Given the description of an element on the screen output the (x, y) to click on. 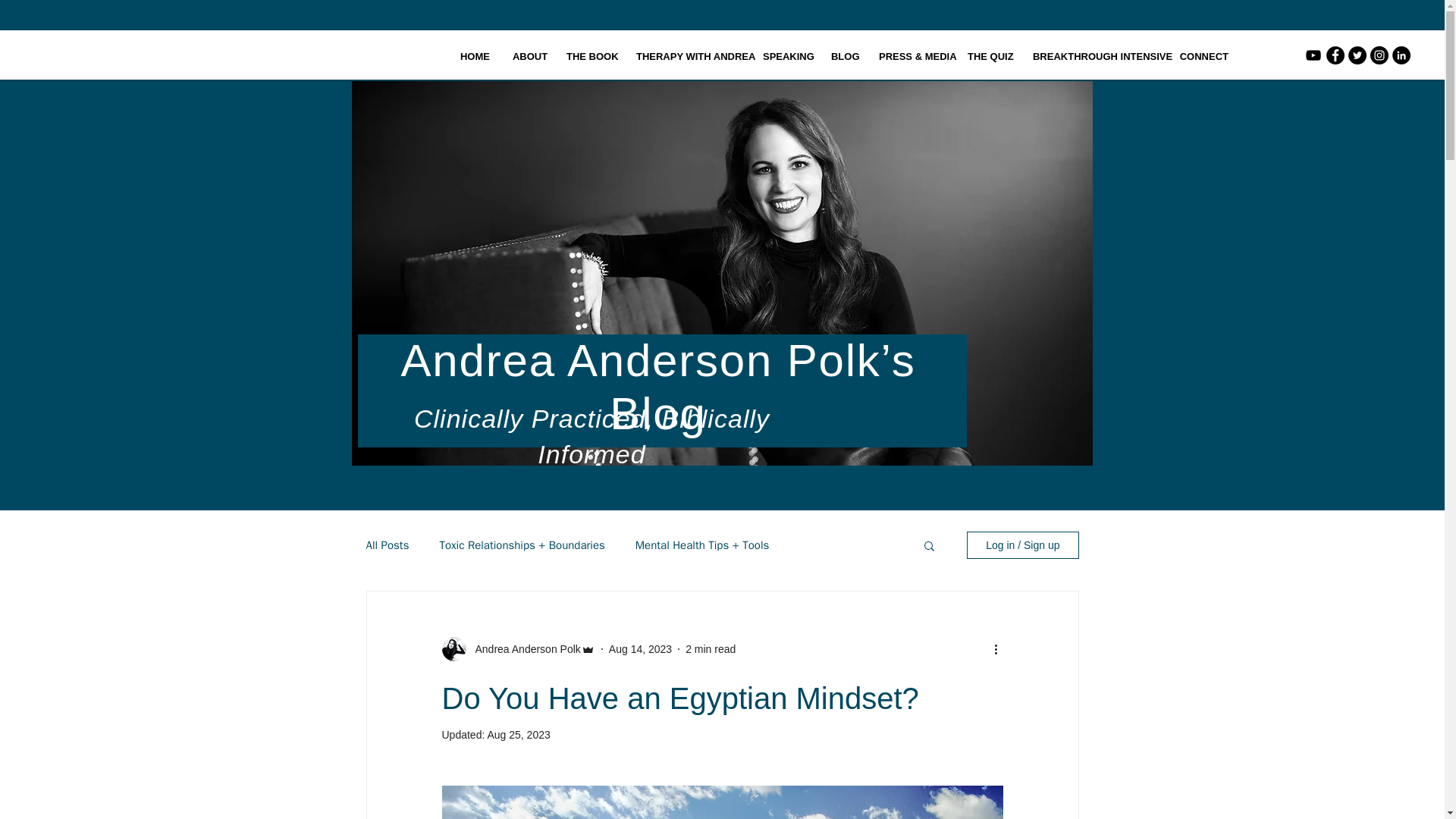
THERAPY WITH ANDREA (687, 56)
THE BOOK (589, 56)
2 min read (710, 648)
All Posts (387, 545)
Aug 25, 2023 (518, 734)
HOME (474, 56)
Aug 14, 2023 (639, 648)
SPEAKING (785, 56)
Andrea Anderson Polk (522, 649)
CONNECT (1203, 56)
BREAKTHROUGH INTENSIVE (1094, 56)
BLOG (843, 56)
THE QUIZ (989, 56)
ABOUT (527, 56)
